Given the description of an element on the screen output the (x, y) to click on. 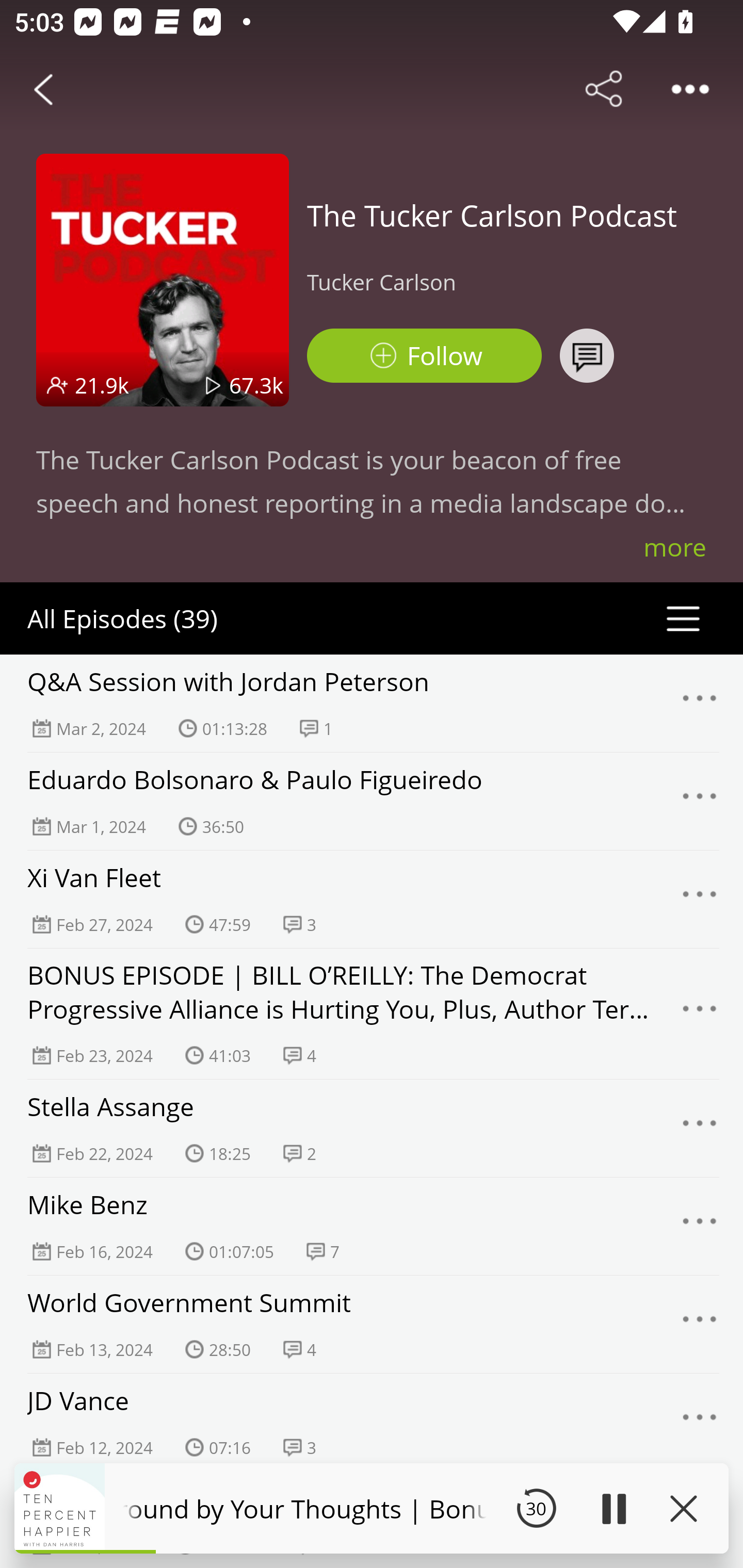
Back (43, 88)
Podbean Follow (423, 355)
21.9k (102, 384)
more (674, 546)
Menu (699, 703)
Menu (699, 801)
Xi Van Fleet Feb 27, 2024 47:59 3 Menu (371, 898)
Menu (699, 899)
Menu (699, 1013)
Stella Assange Feb 22, 2024 18:25 2 Menu (371, 1127)
Menu (699, 1128)
Mike Benz Feb 16, 2024 01:07:05 7 Menu (371, 1225)
Menu (699, 1226)
World Government Summit Feb 13, 2024 28:50 4 Menu (371, 1323)
Menu (699, 1324)
JD Vance Feb 12, 2024 07:16 3 Menu (371, 1421)
Menu (699, 1422)
Play (613, 1507)
30 Seek Backward (536, 1508)
